Given the description of an element on the screen output the (x, y) to click on. 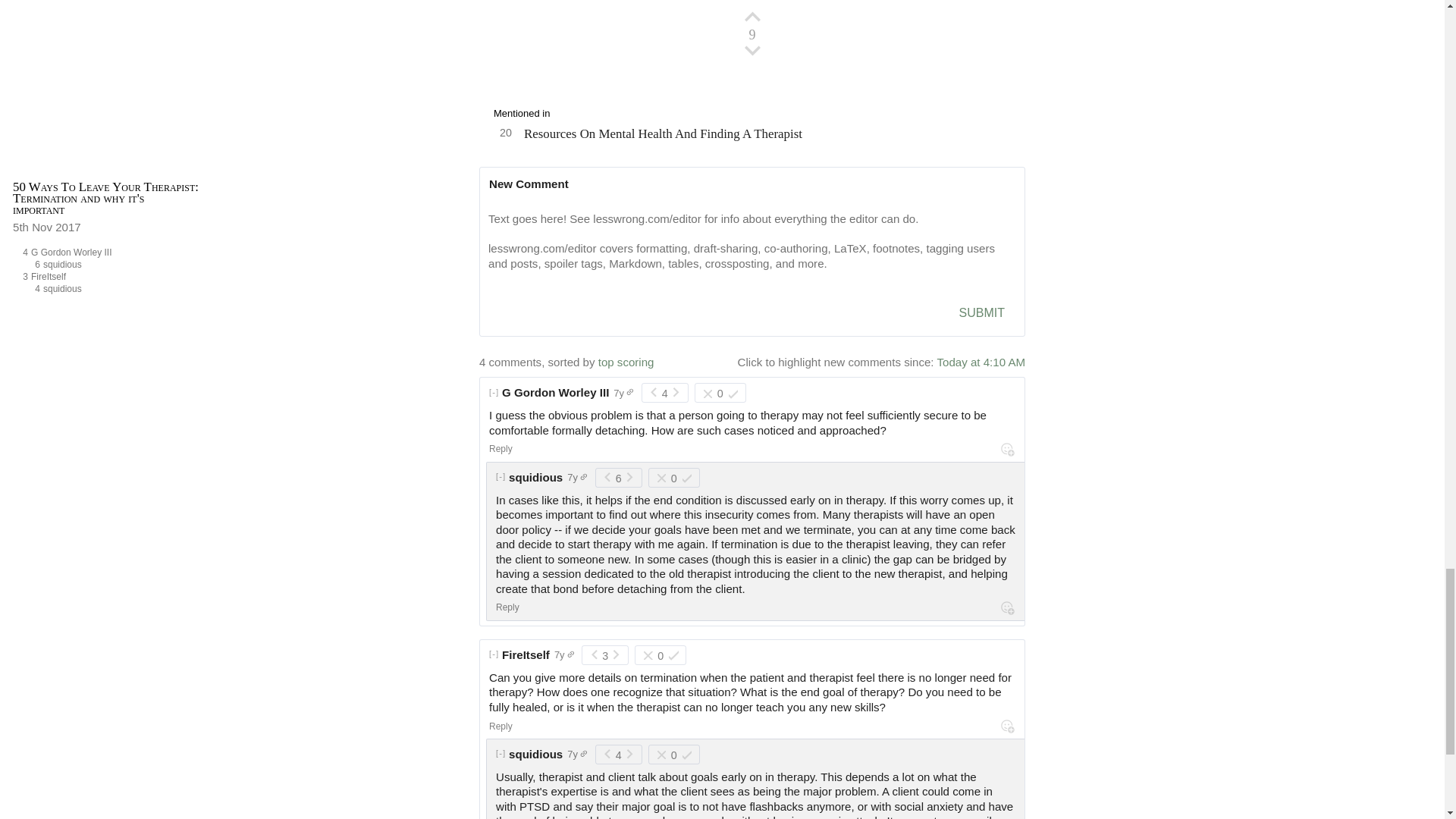
Today at 4:10 AM (114, 290)
Reply (980, 361)
squidious (109, 277)
top scoring (500, 448)
7y (535, 477)
7y (625, 361)
G Gordon Worley III (623, 392)
